Given the description of an element on the screen output the (x, y) to click on. 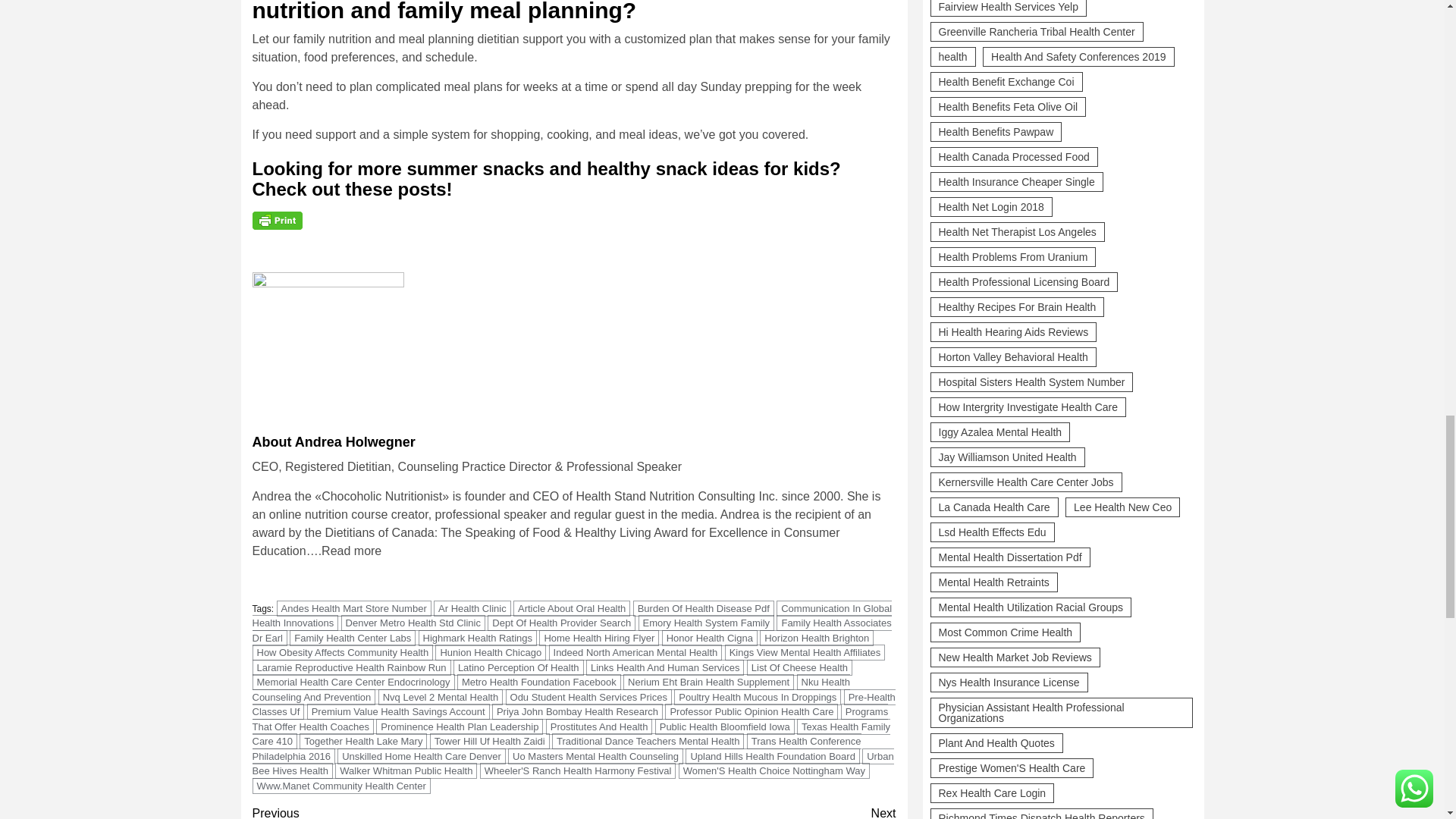
Article About Oral Health (571, 608)
Andes Health Mart Store Number (353, 608)
Communication In Global Health Innovations (571, 615)
Dept Of Health Provider Search (560, 622)
Ar Health Clinic (472, 608)
Denver Metro Health Std Clinic (412, 622)
Burden Of Health Disease Pdf (703, 608)
